Given the description of an element on the screen output the (x, y) to click on. 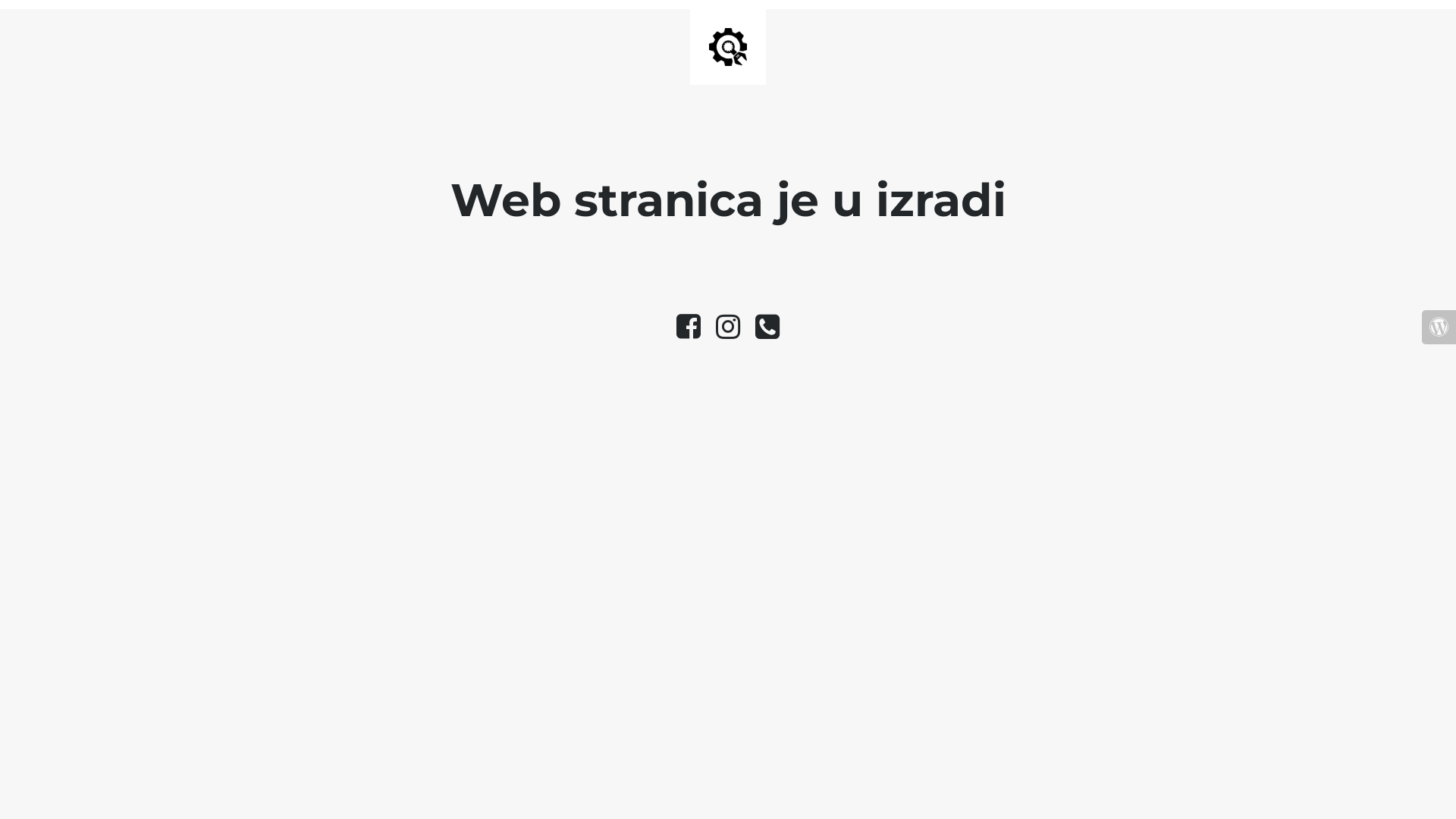
Site is Under Construction Element type: hover (727, 46)
